Given the description of an element on the screen output the (x, y) to click on. 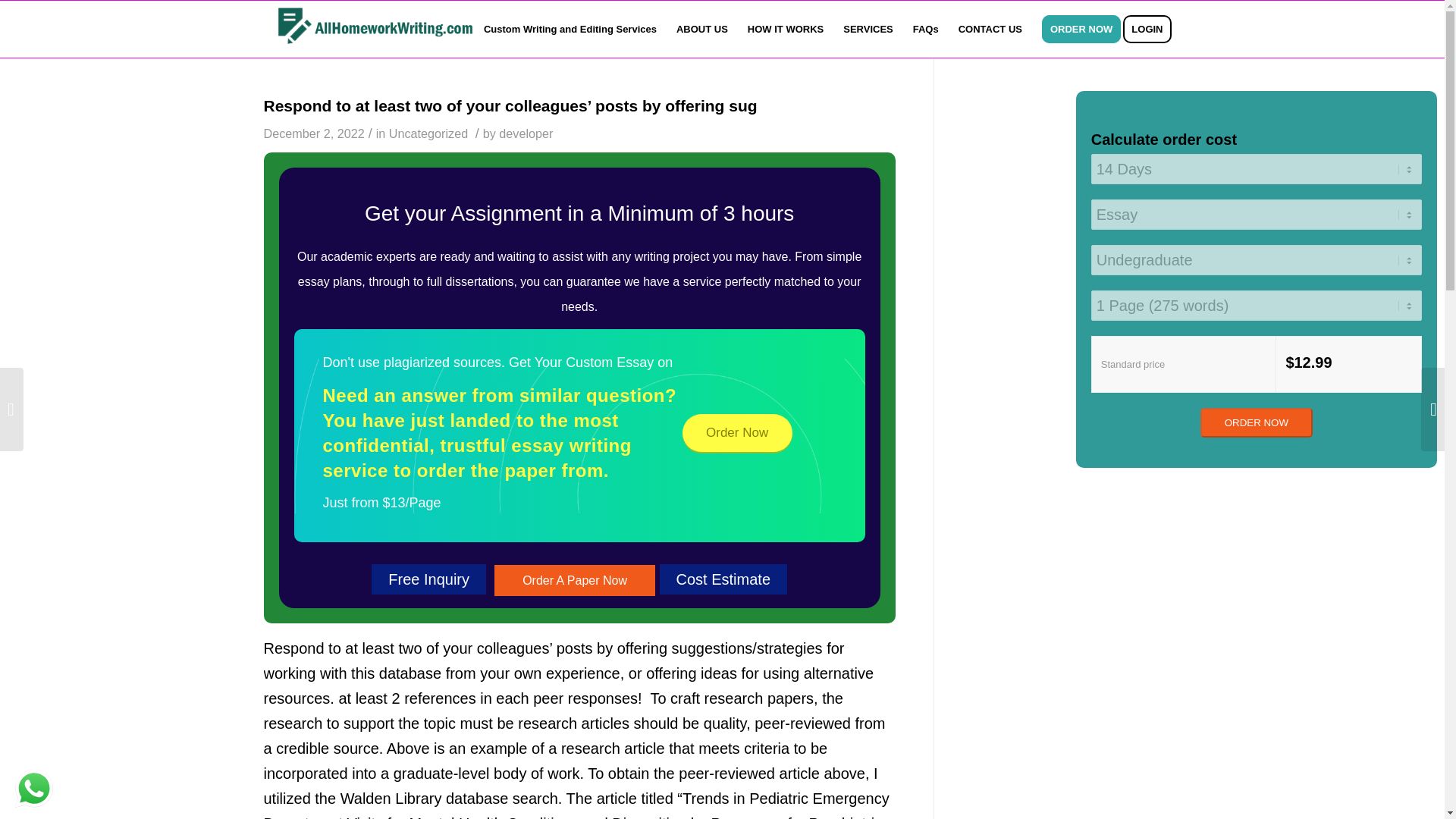
CONTACT US (990, 28)
LOGIN (1151, 28)
FAQs (925, 28)
WhatsApp us (33, 788)
Cost Estimate (723, 579)
Free Inquiry (428, 579)
Order Now (737, 433)
SERVICES (867, 28)
developer (526, 133)
Uncategorized (427, 133)
HOW IT WORKS (785, 28)
ABOUT US (702, 28)
ORDER NOW (1256, 422)
Custom Writing and Editing Services (570, 28)
ORDER NOW (1081, 28)
